Given the description of an element on the screen output the (x, y) to click on. 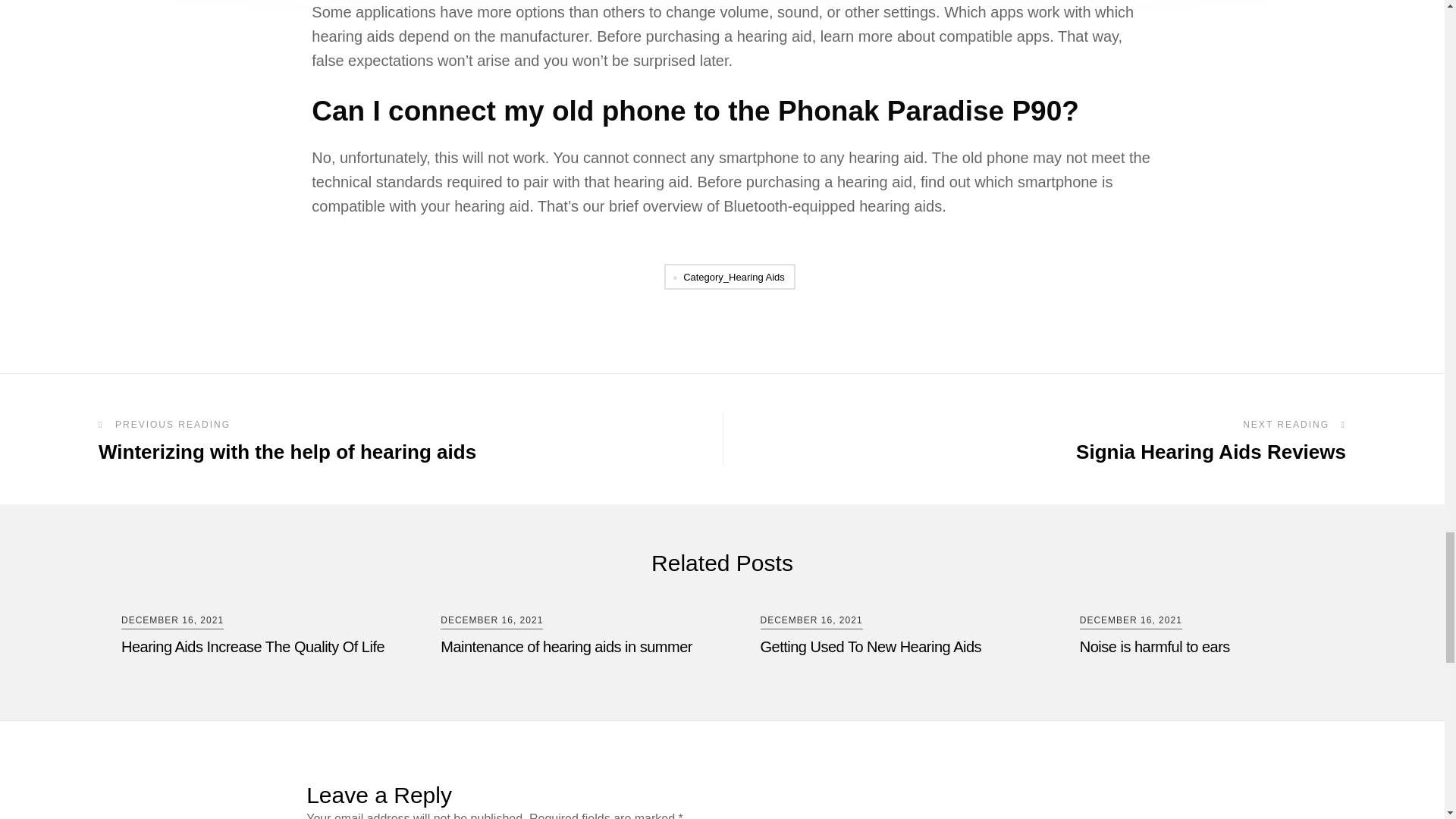
Getting Used To New Hearing Aids (893, 646)
Hearing Aids Increase The Quality Of Life (372, 439)
Noise is harmful to ears (253, 646)
Maintenance of hearing aids in summer (1212, 646)
